Given the description of an element on the screen output the (x, y) to click on. 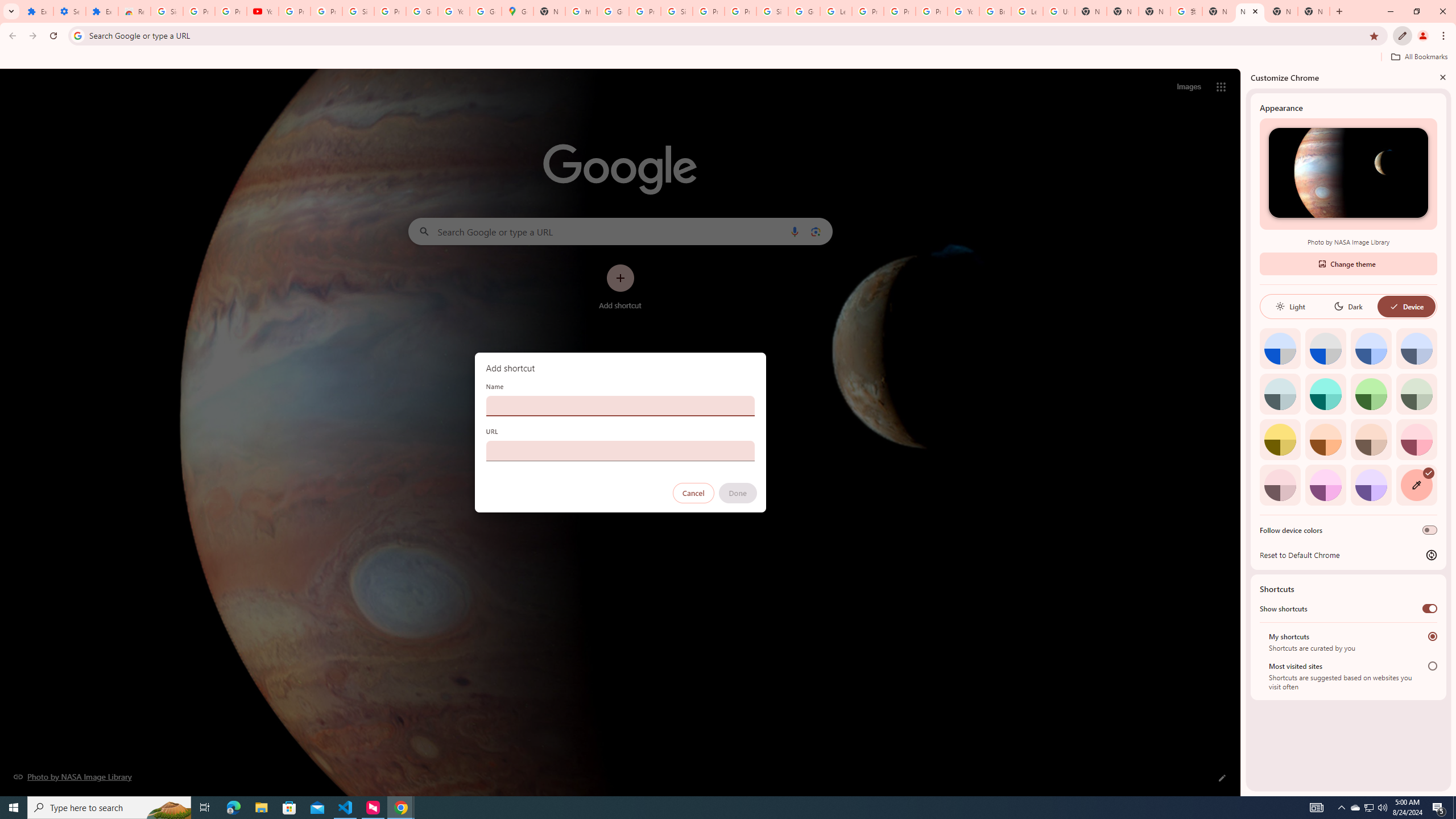
Side Panel Resize Handle (1242, 431)
New Tab (1313, 11)
YouTube (963, 11)
Browse Chrome as a guest - Computer - Google Chrome Help (995, 11)
Cancel (693, 493)
Custom color (1416, 484)
